Given the description of an element on the screen output the (x, y) to click on. 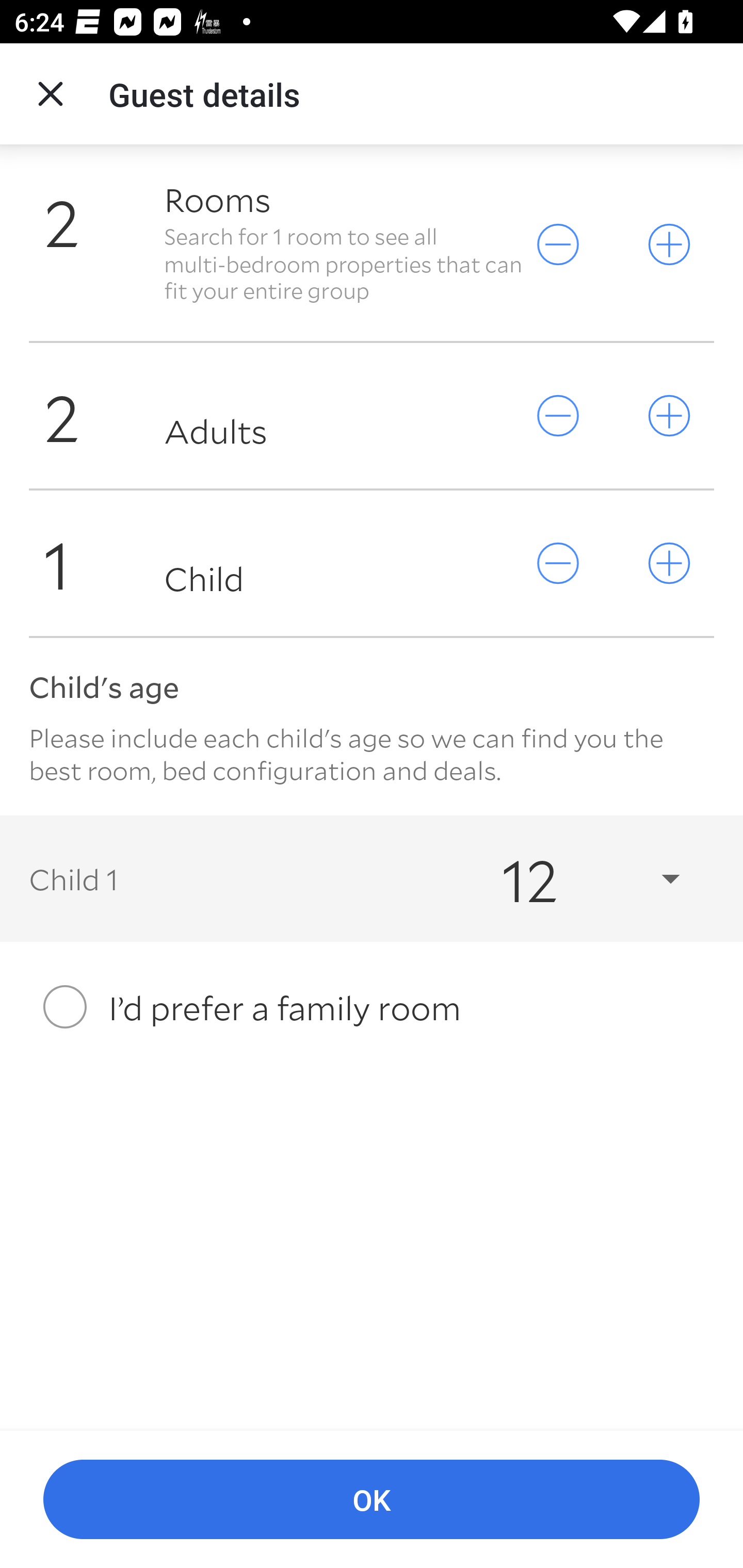
12 (573, 878)
I’d prefer a family room (371, 1006)
OK (371, 1499)
